Given the description of an element on the screen output the (x, y) to click on. 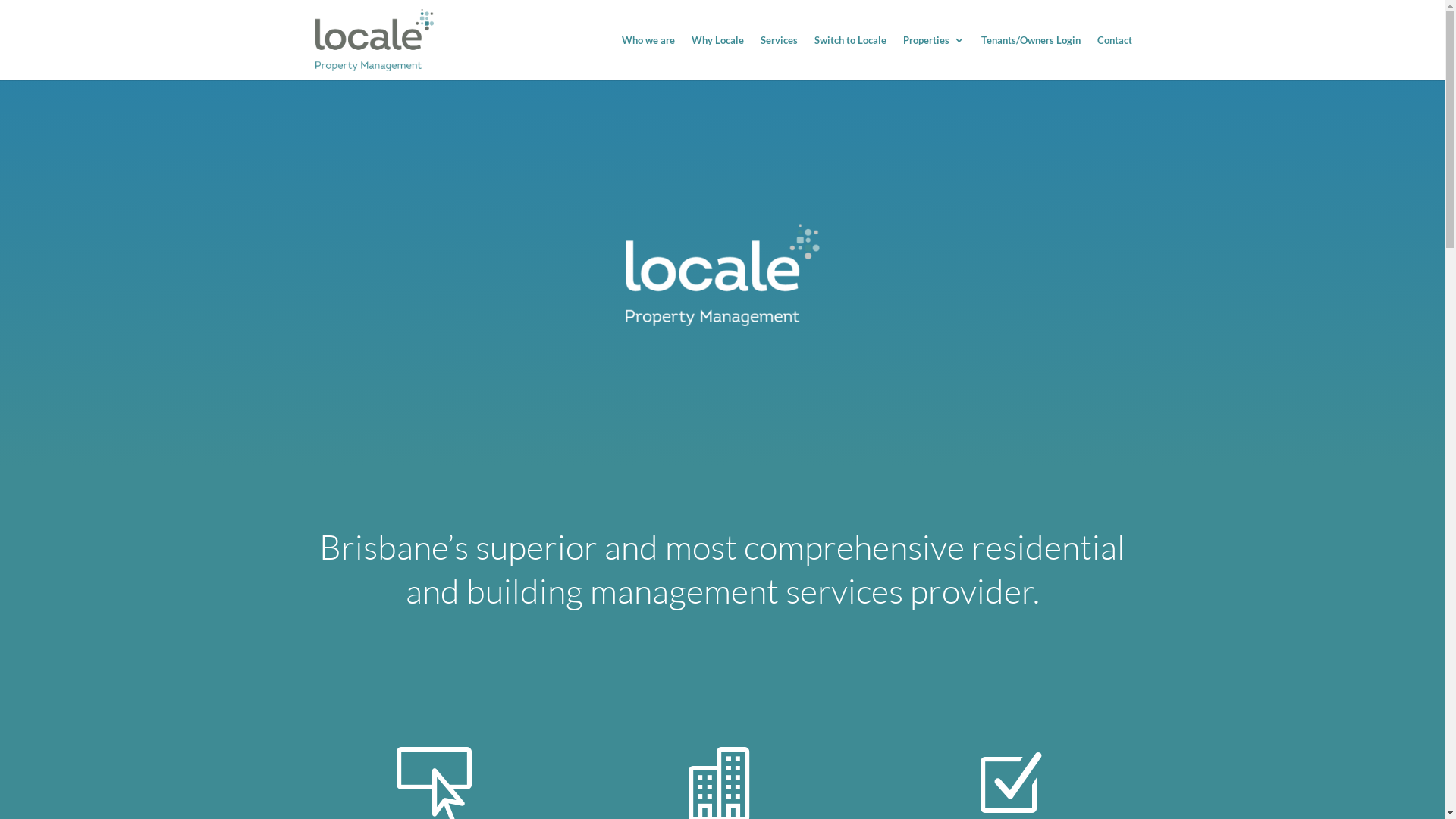
Switch to Locale Element type: text (850, 57)
Services Element type: text (778, 57)
Contact Element type: text (1113, 57)
Tenants/Owners Login Element type: text (1030, 57)
Why Locale Element type: text (717, 57)
Who we are Element type: text (647, 57)
Properties Element type: text (932, 57)
